Given the description of an element on the screen output the (x, y) to click on. 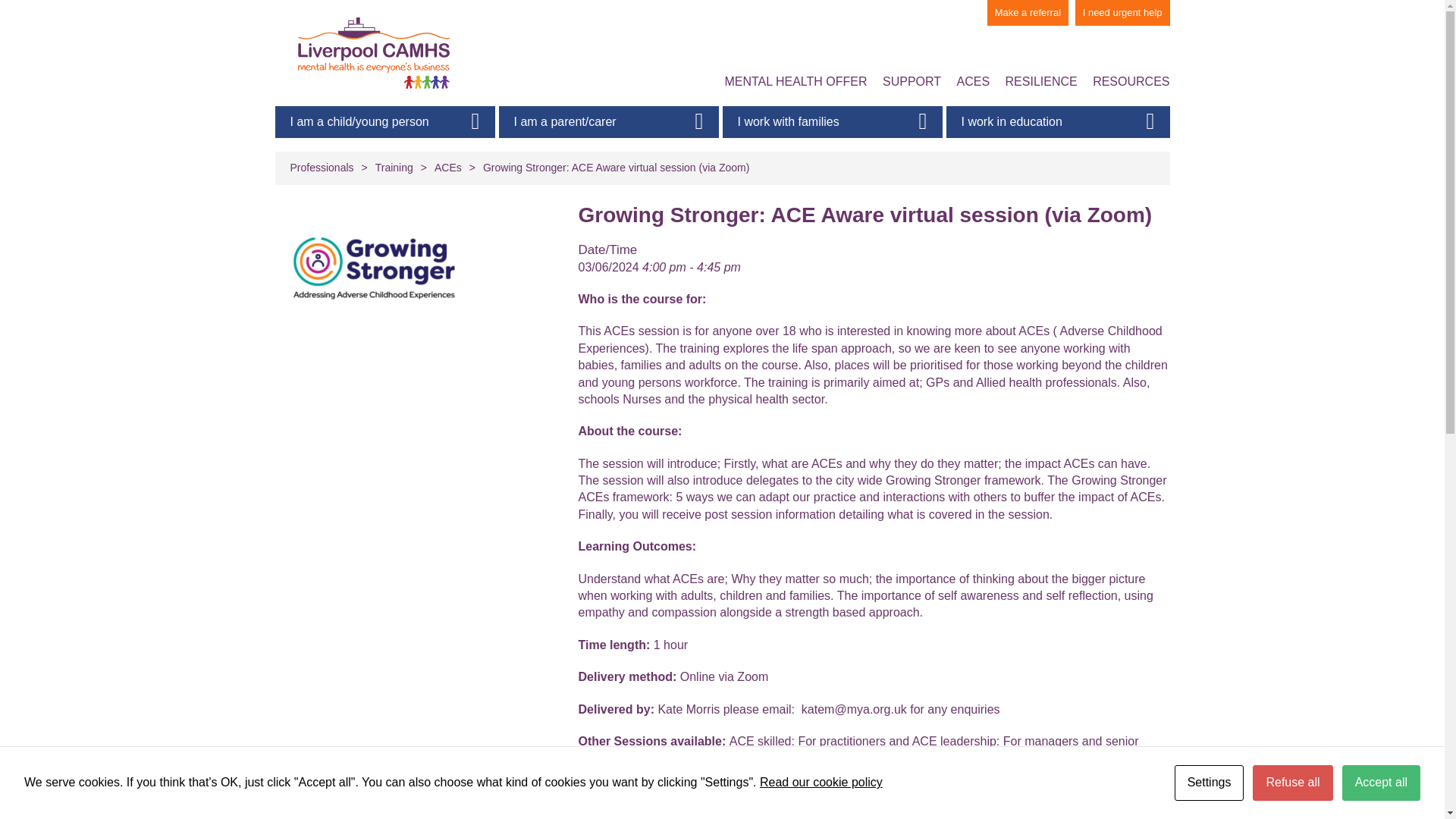
MENTAL HEALTH OFFER (794, 81)
ACES (973, 81)
RESOURCES (1131, 81)
I need urgent help (1122, 12)
RESILIENCE (1041, 81)
Make a referral (1027, 12)
SUPPORT (911, 81)
